Given the description of an element on the screen output the (x, y) to click on. 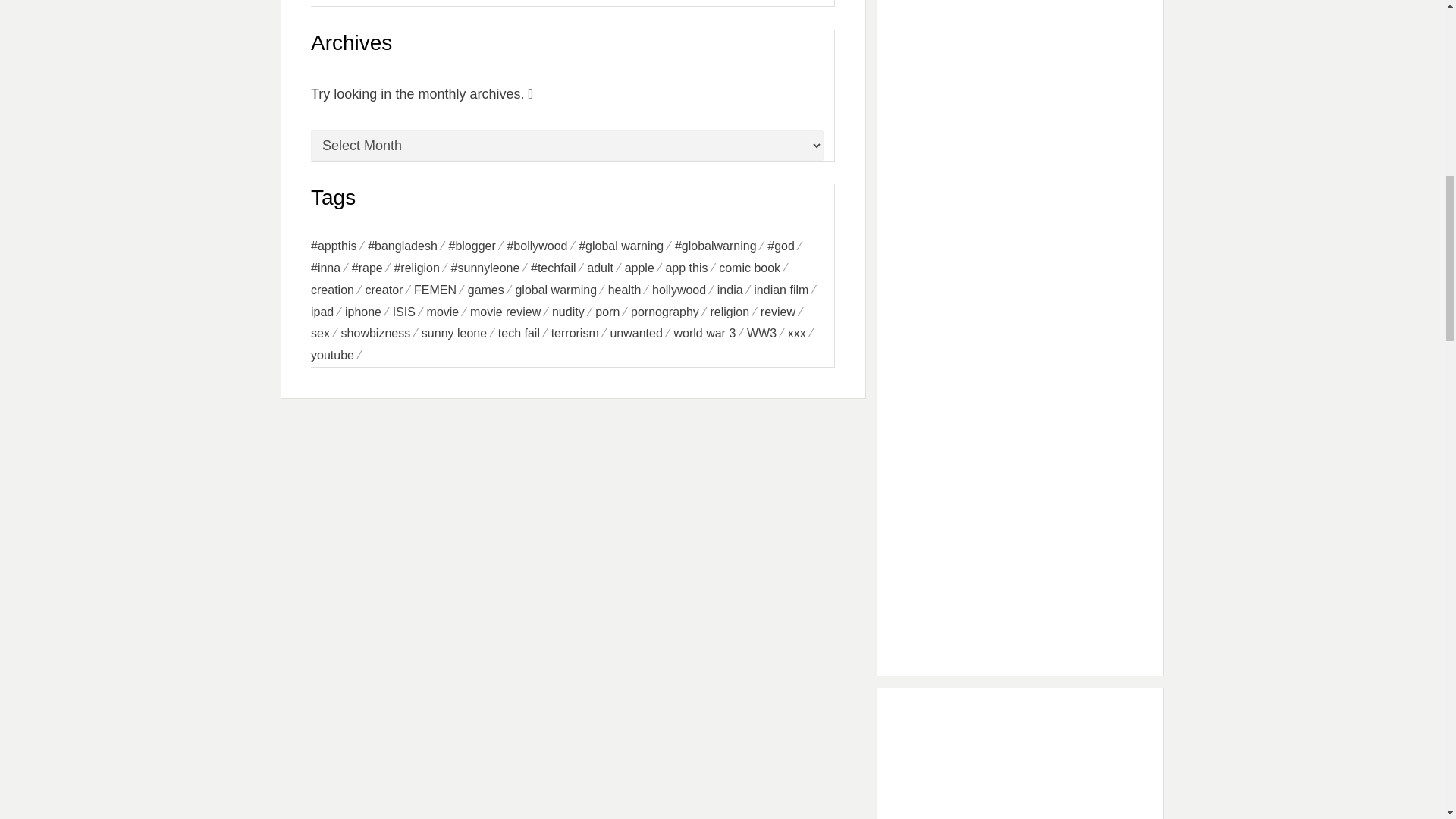
comic book (755, 268)
adult (605, 268)
apple (644, 268)
app this (692, 268)
